Given the description of an element on the screen output the (x, y) to click on. 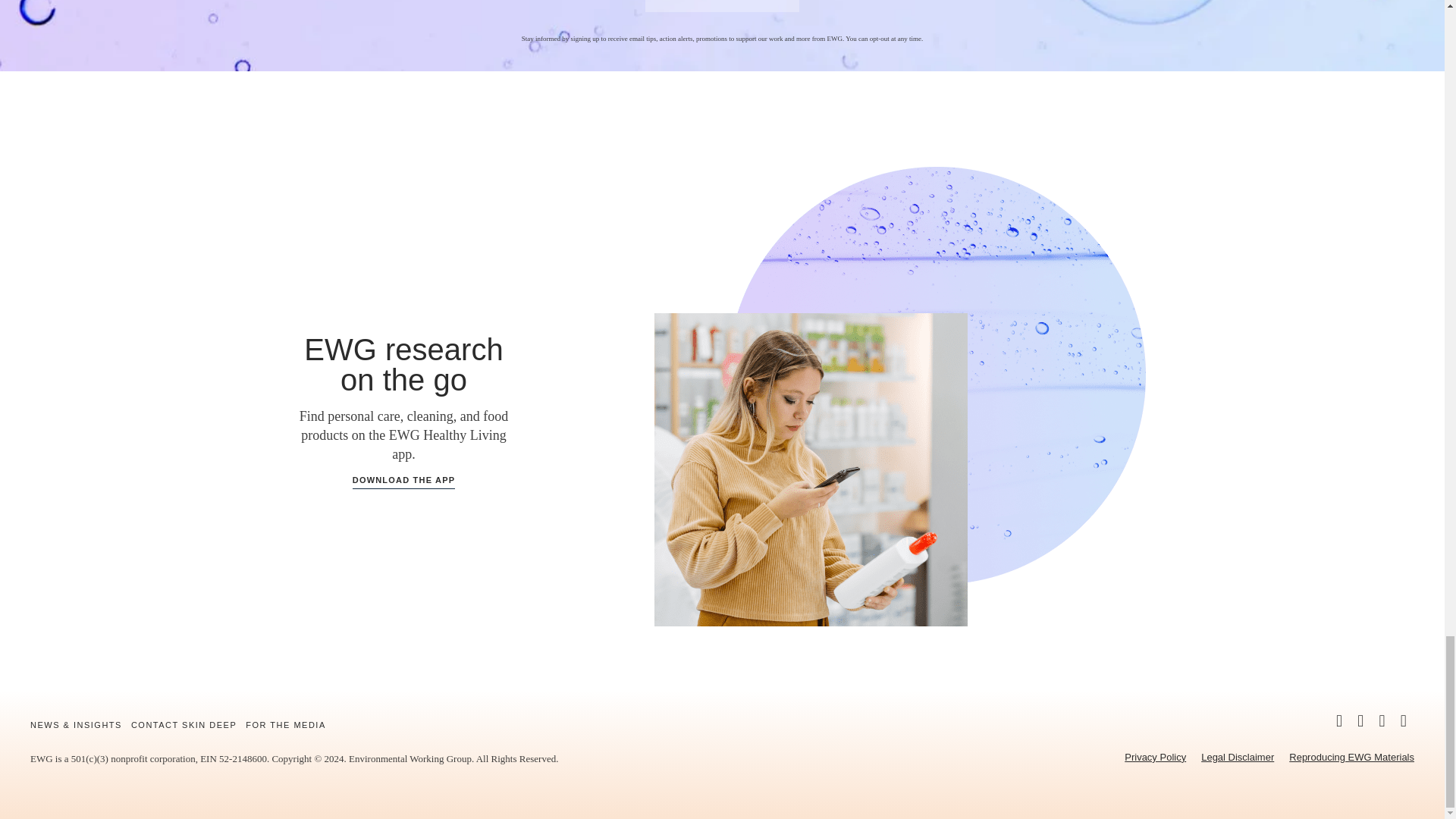
GET THE GUIDE (722, 6)
